Given the description of an element on the screen output the (x, y) to click on. 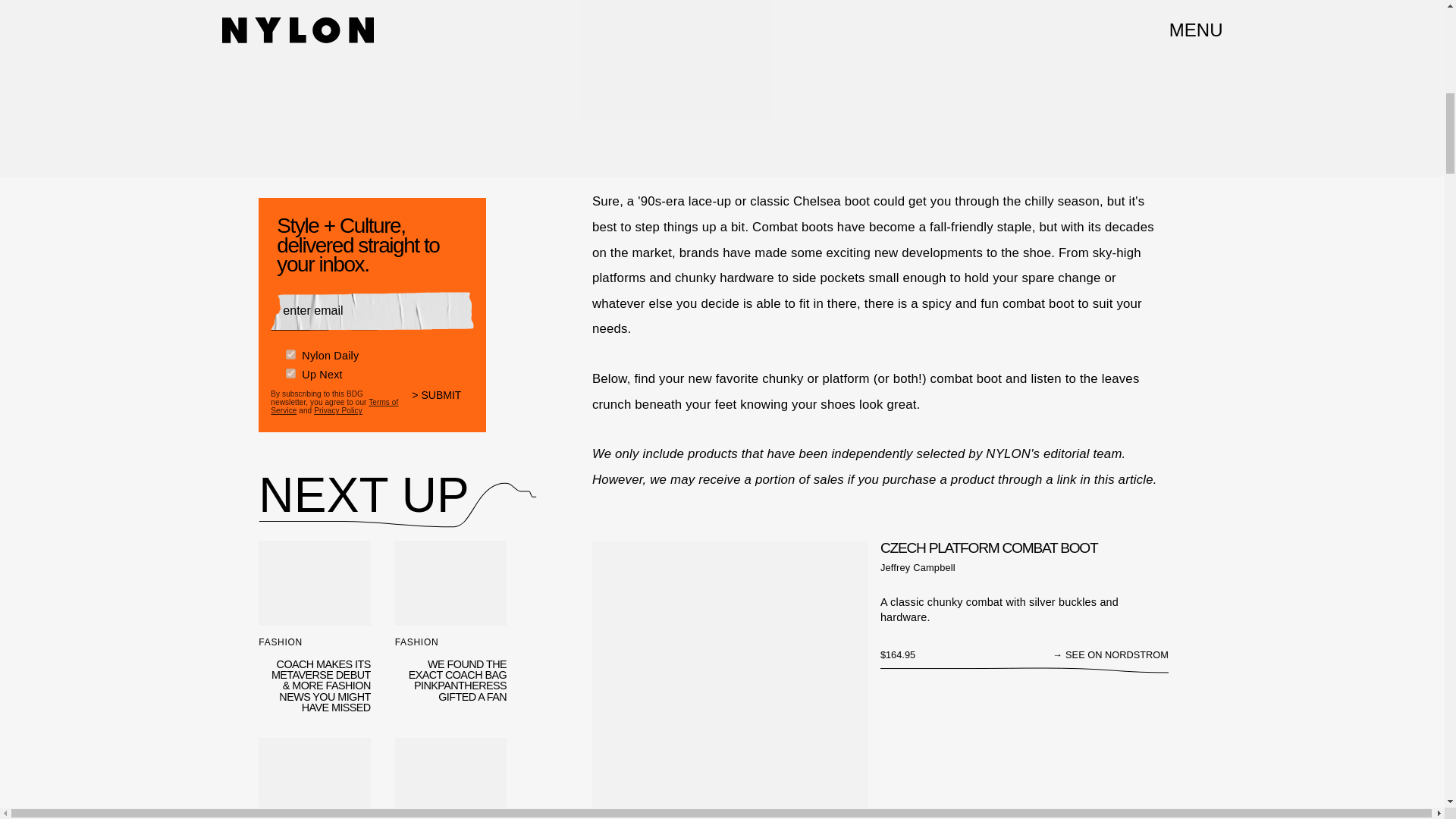
Terms of Service (333, 406)
Privacy Policy (338, 410)
SUBMIT (443, 404)
